Given the description of an element on the screen output the (x, y) to click on. 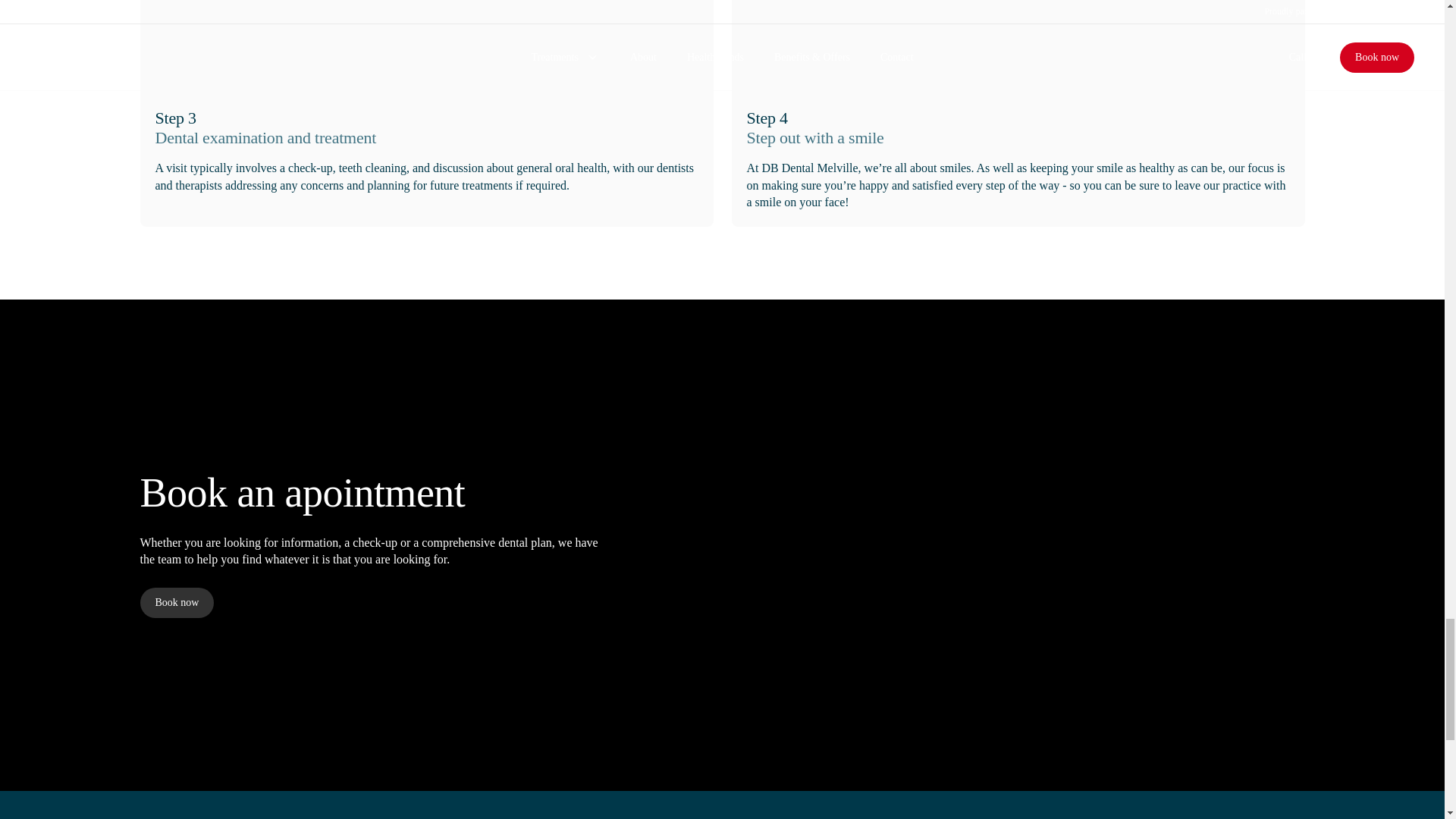
Book now (176, 603)
